Given the description of an element on the screen output the (x, y) to click on. 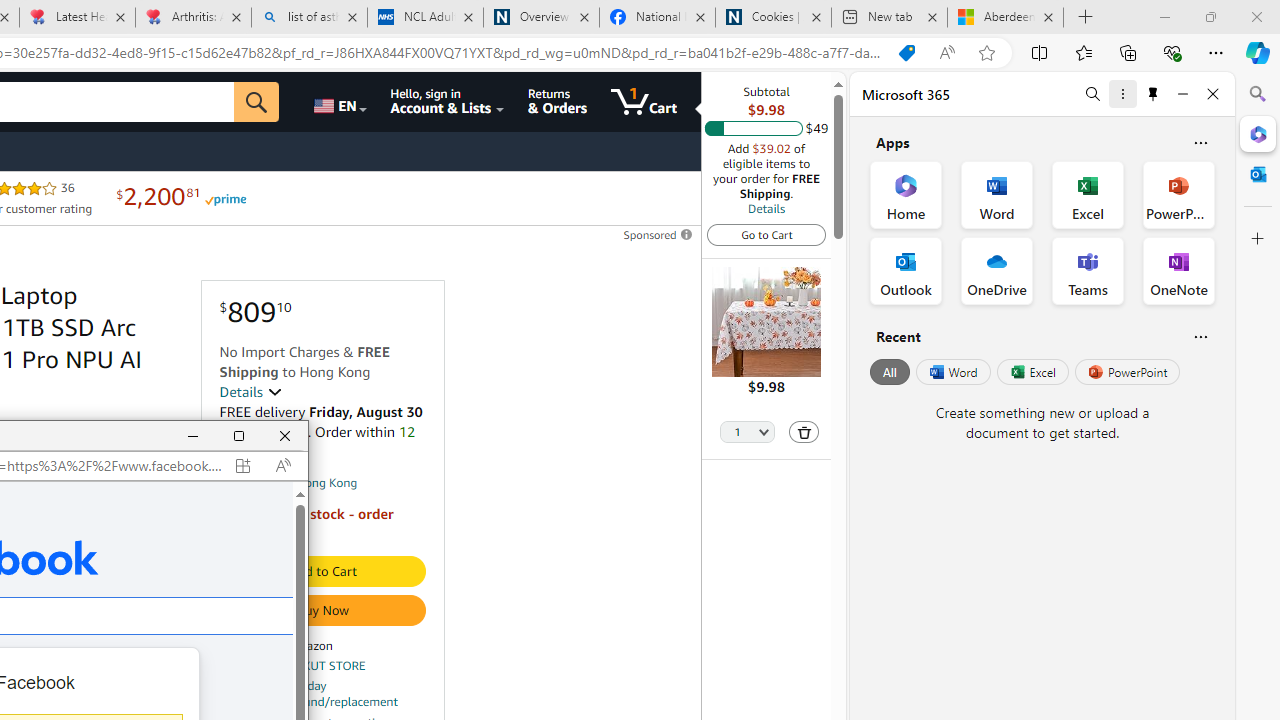
Word (952, 372)
Outlook Office App (906, 270)
Choose a language for shopping. (339, 101)
App available. Install Facebook (242, 465)
Unpin side pane (1153, 93)
Delete (803, 431)
Excel Office App (1087, 194)
Is this helpful? (1200, 336)
Excel (1031, 372)
